Given the description of an element on the screen output the (x, y) to click on. 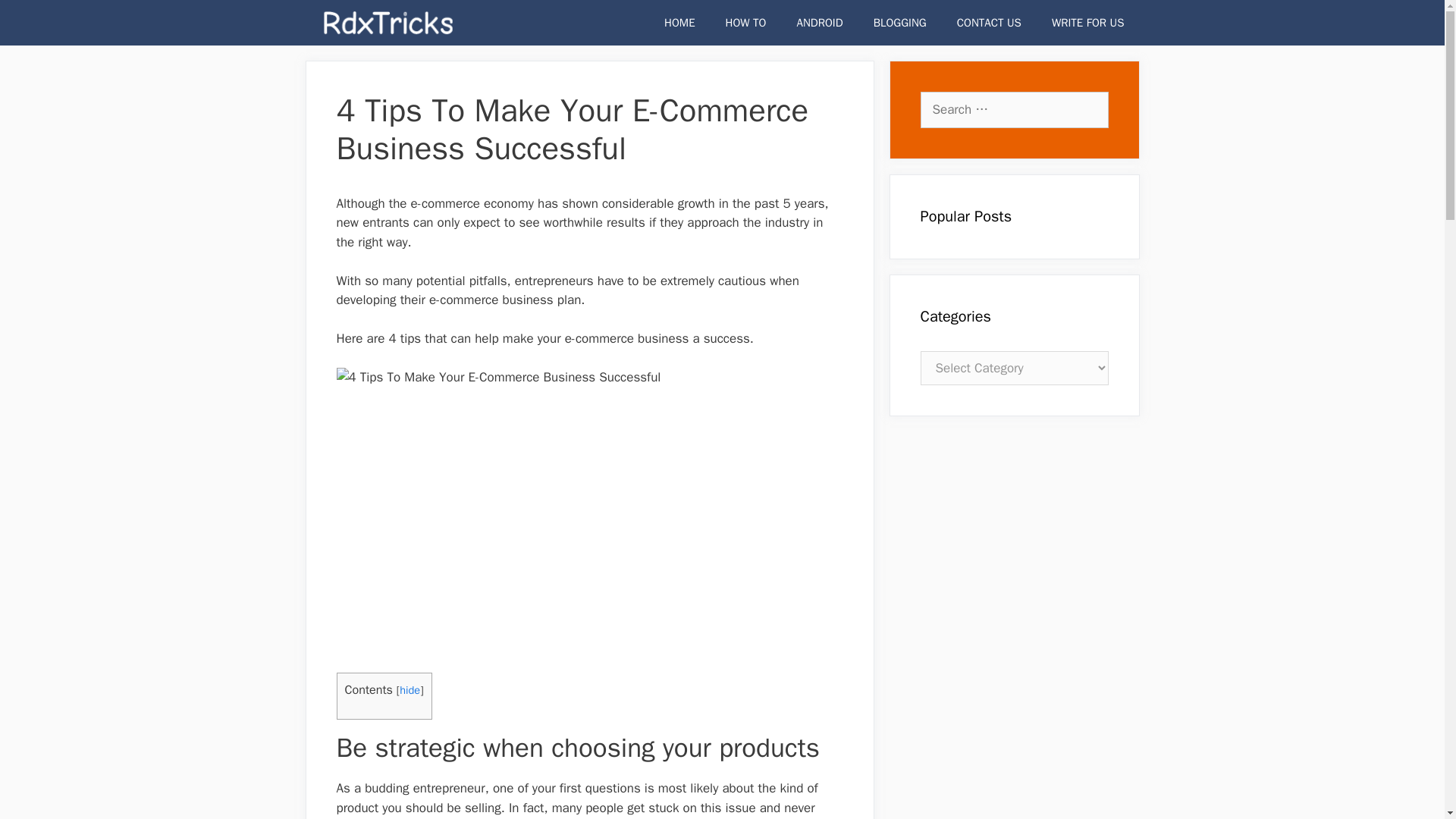
HOW TO (745, 22)
hide (409, 689)
Search (33, 17)
HOME (679, 22)
WRITE FOR US (1088, 22)
RdxTricks (388, 22)
ANDROID (818, 22)
CONTACT US (989, 22)
Search for: (1014, 109)
BLOGGING (900, 22)
